Given the description of an element on the screen output the (x, y) to click on. 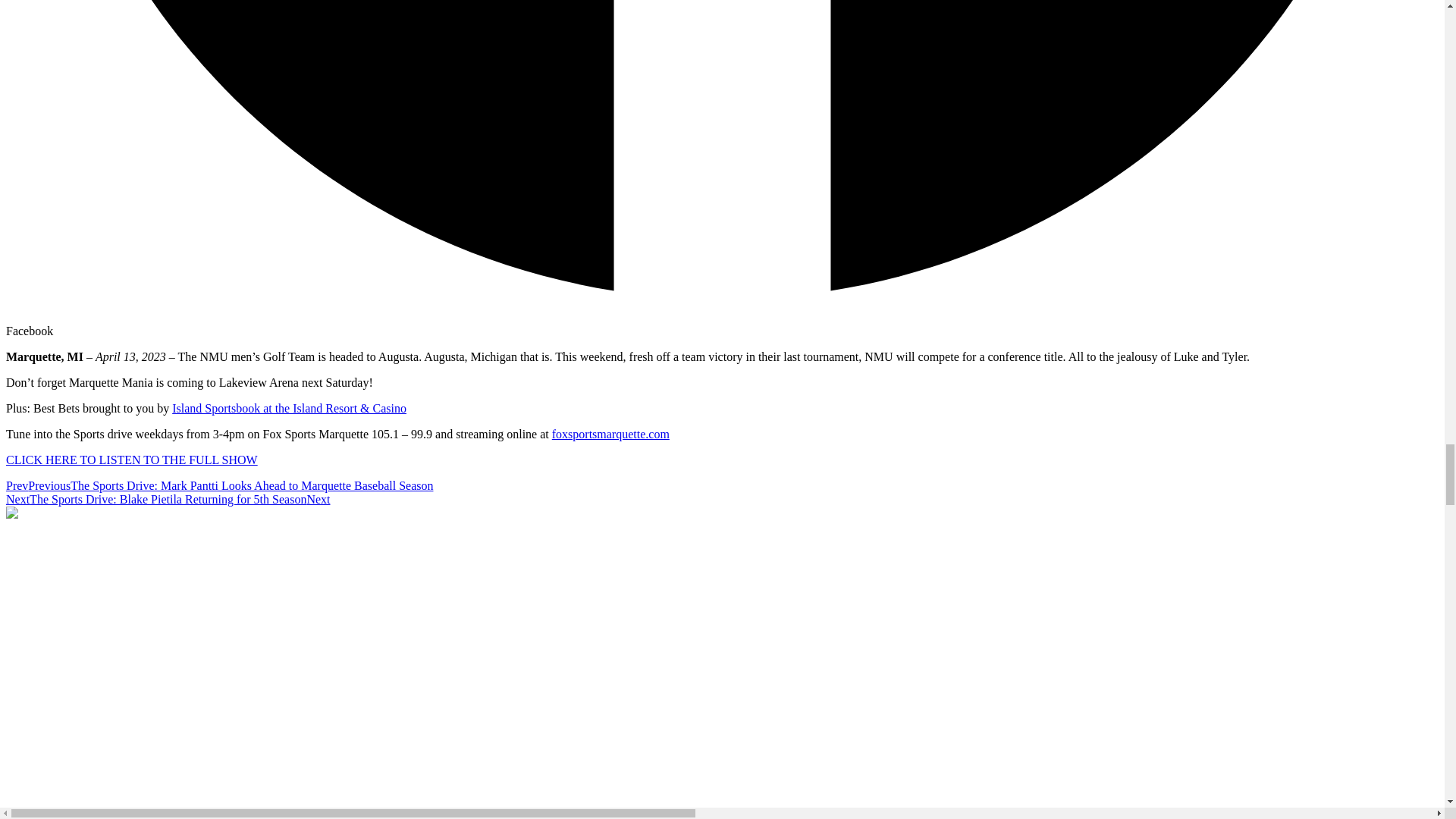
CLICK HERE TO LISTEN TO THE FULL SHOW (131, 459)
foxsportsmarquette.com (610, 433)
